Given the description of an element on the screen output the (x, y) to click on. 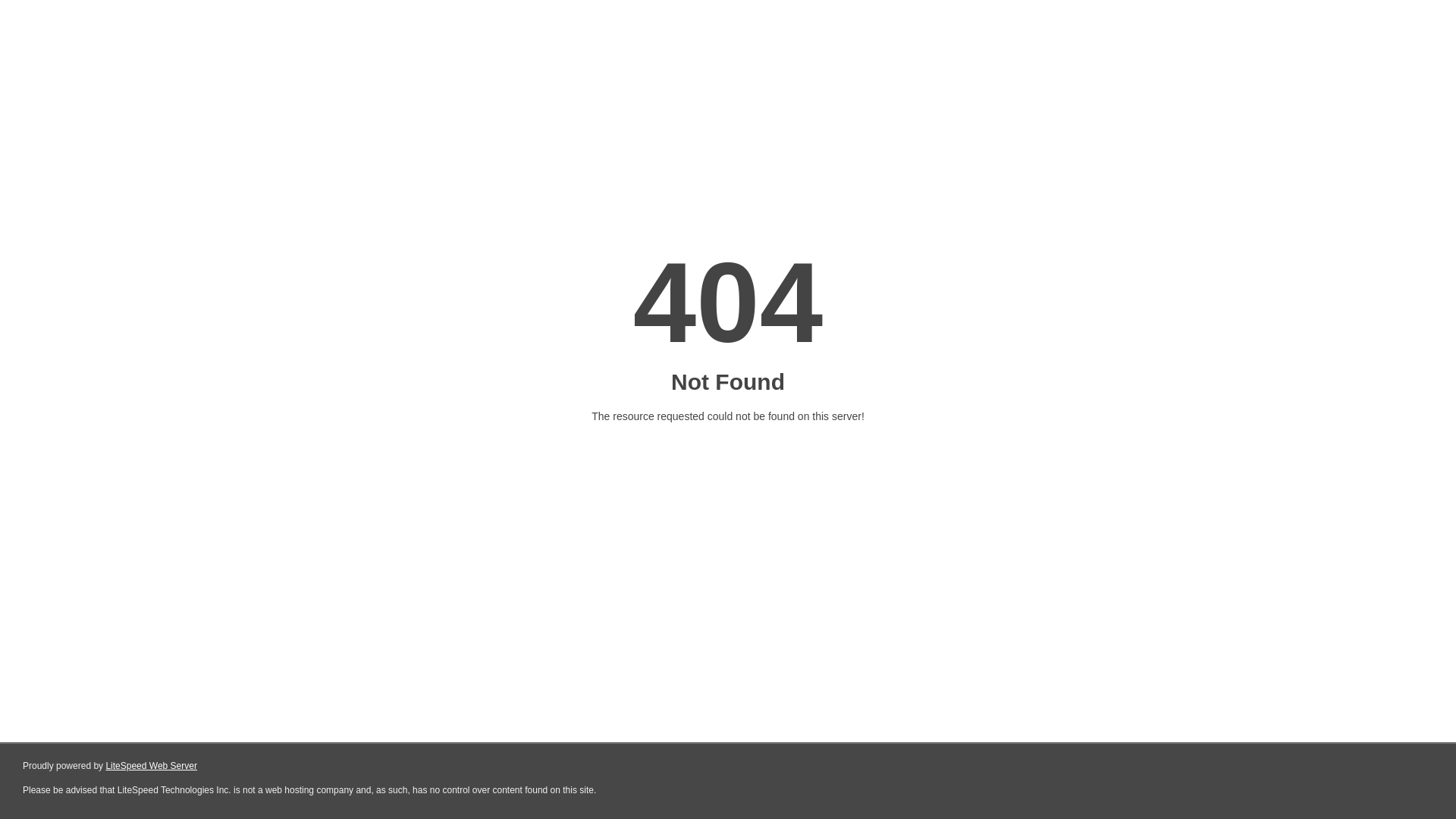
LiteSpeed Web Server Element type: text (151, 765)
